Given the description of an element on the screen output the (x, y) to click on. 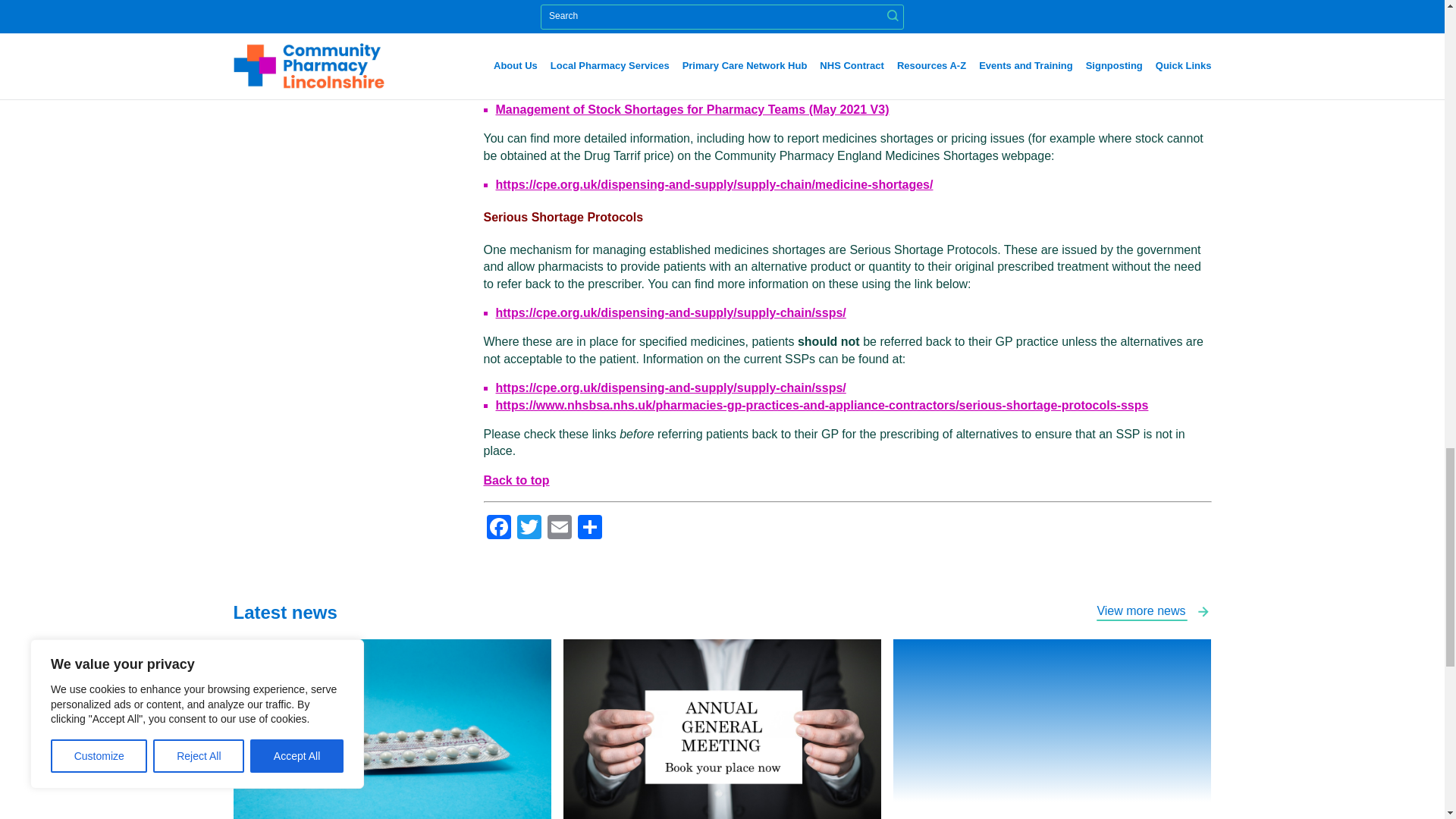
Facebook (498, 528)
Twitter (528, 528)
Email (559, 528)
